Given the description of an element on the screen output the (x, y) to click on. 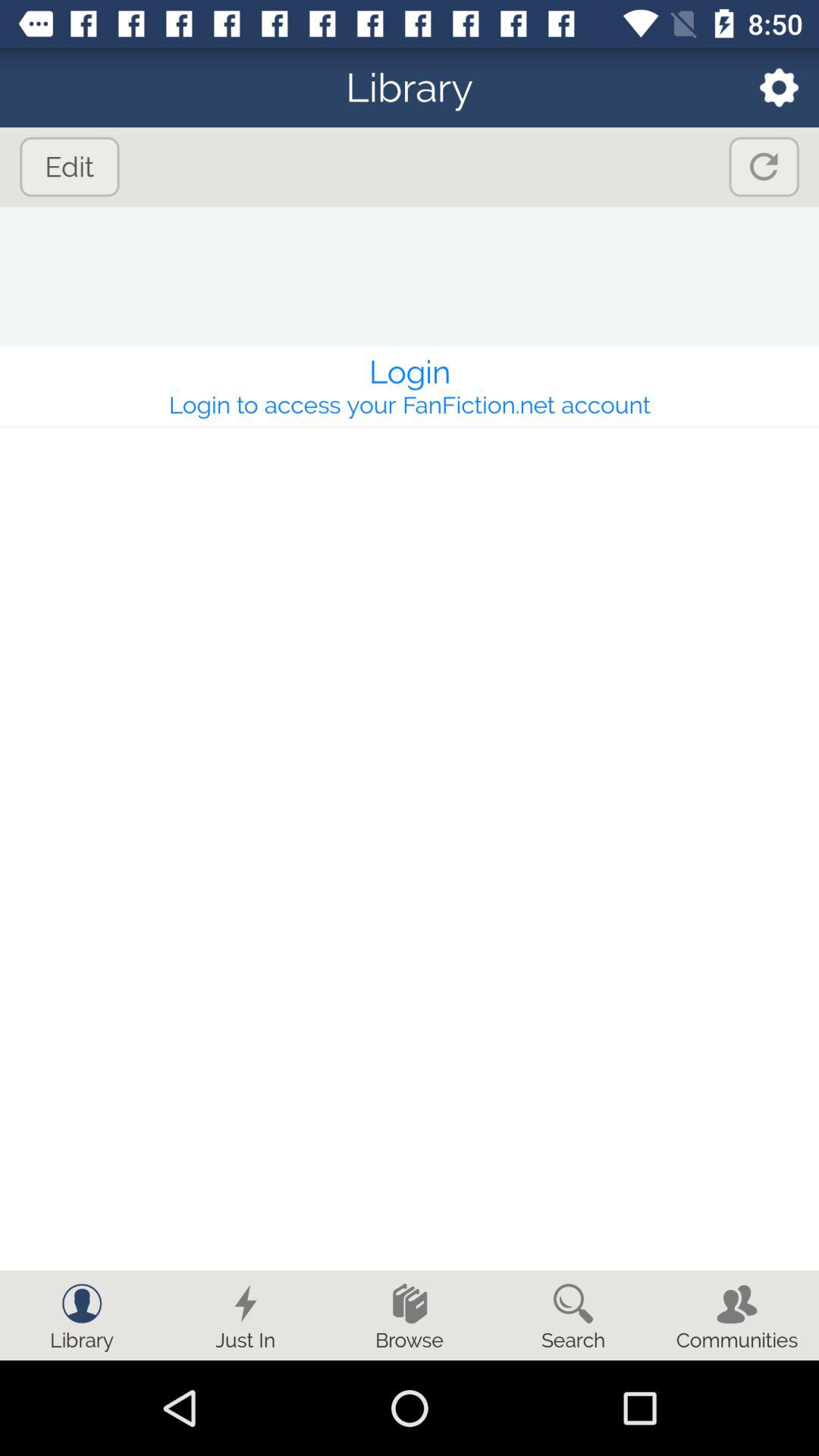
jump until login to access item (409, 404)
